Given the description of an element on the screen output the (x, y) to click on. 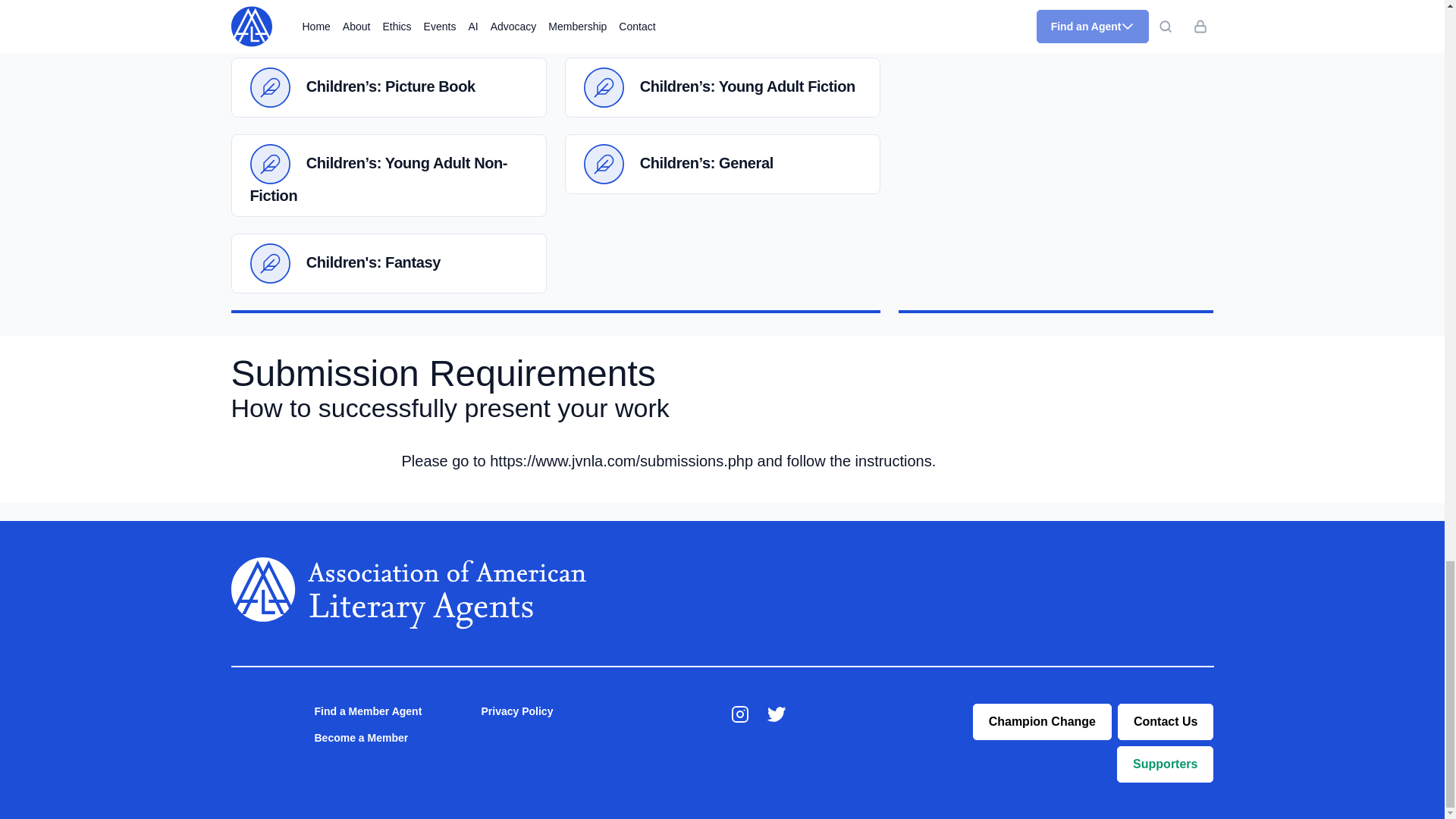
Contact Us (1165, 721)
Supporters (1164, 764)
Find a Member Agent (368, 711)
Champion Change (1042, 721)
Privacy Policy (516, 711)
Become a Member (360, 737)
